Given the description of an element on the screen output the (x, y) to click on. 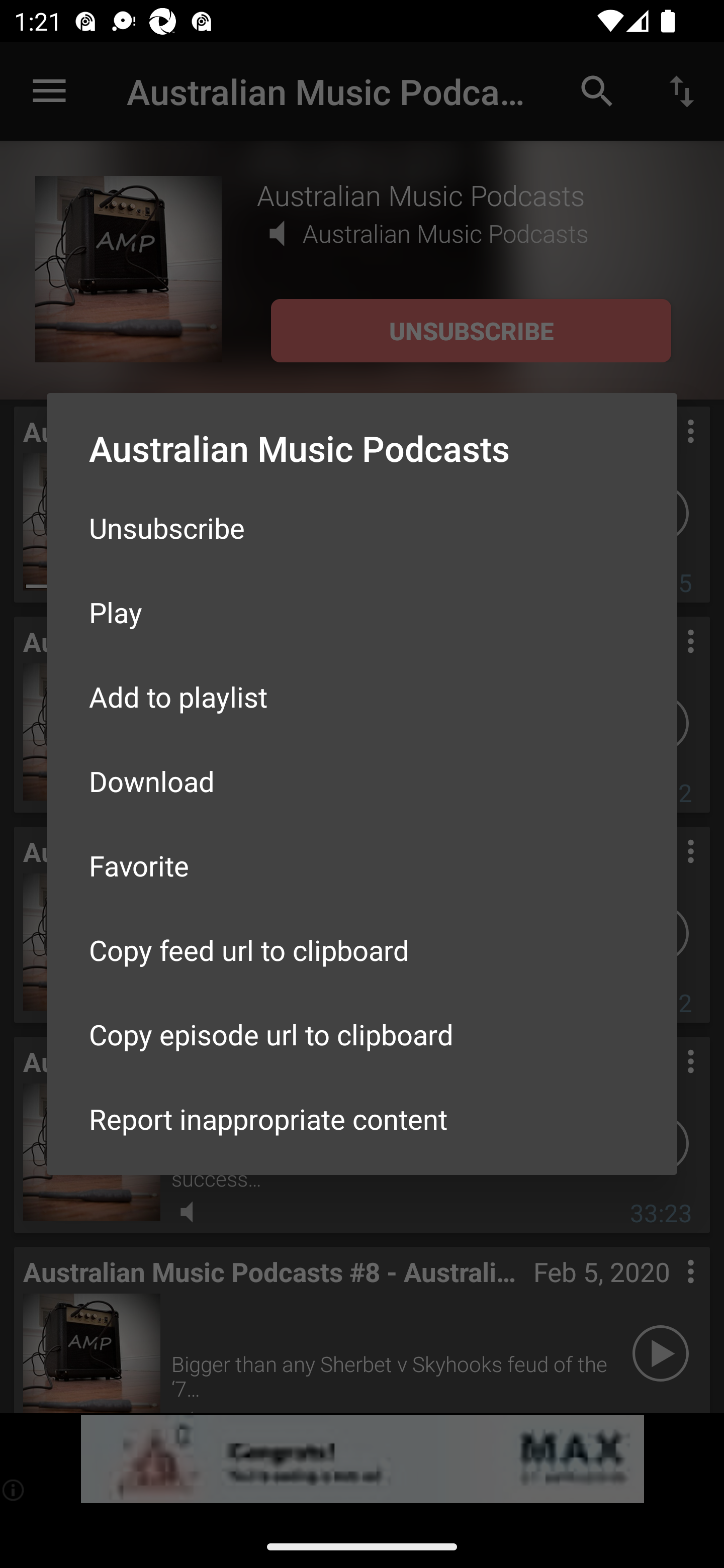
Unsubscribe (361, 527)
Play (361, 611)
Add to playlist (361, 695)
Download (361, 780)
Favorite (361, 865)
Copy feed url to clipboard (361, 949)
Copy episode url to clipboard (361, 1034)
Report inappropriate content (361, 1118)
